Given the description of an element on the screen output the (x, y) to click on. 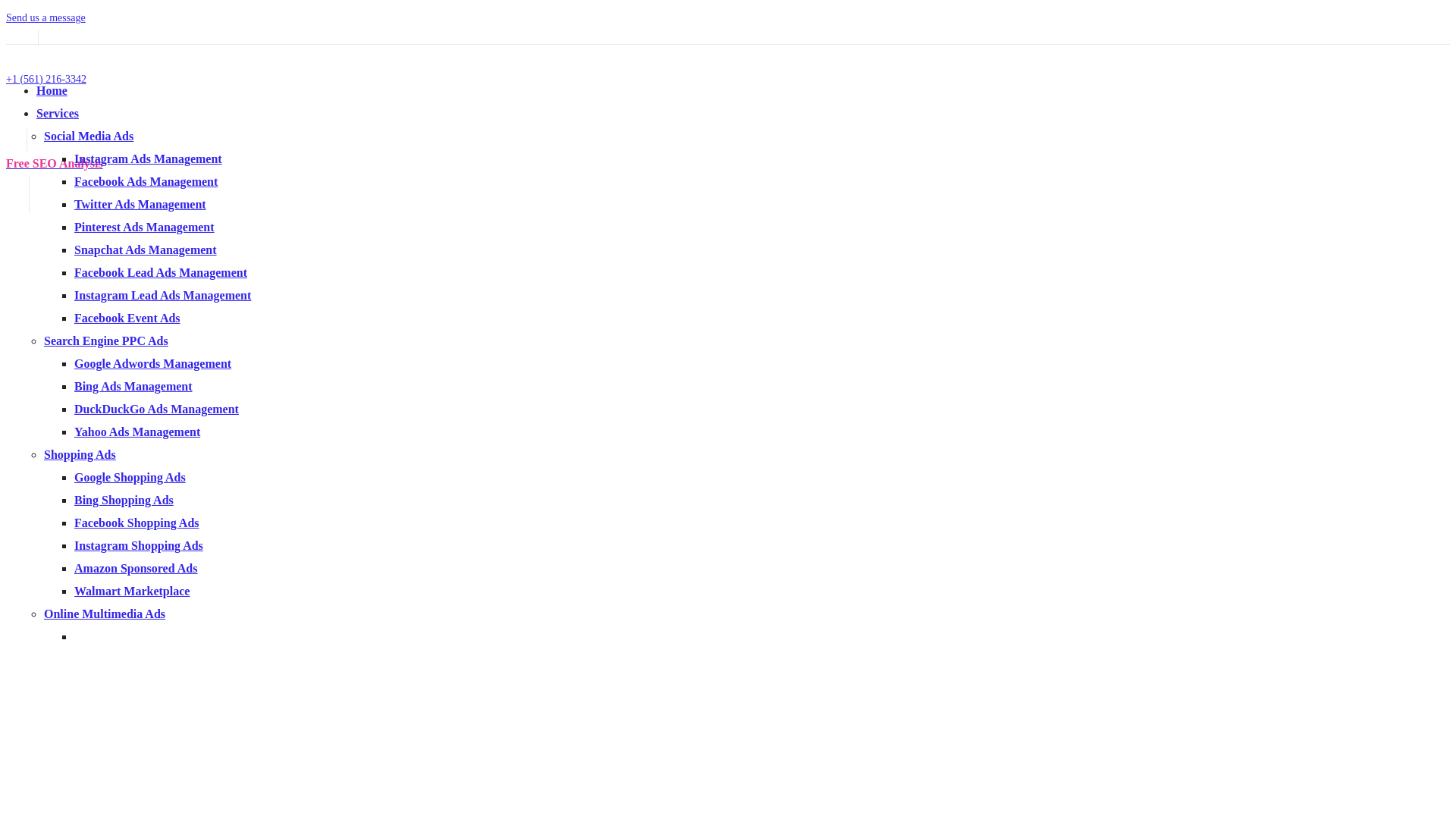
Google Adwords Management Element type: text (152, 363)
Send us a message Element type: text (45, 17)
Bing Ads Management Element type: text (133, 385)
Free SEO Analysis Element type: text (54, 162)
Walmart Marketplace Element type: text (131, 590)
Instagram Lead Ads Management Element type: text (162, 294)
Social Media Ads Element type: text (88, 135)
Services Element type: text (57, 112)
Home Element type: text (51, 90)
Twitter Ads Management Element type: text (140, 203)
Yahoo Ads Management Element type: text (137, 431)
Google Shopping Ads Element type: text (129, 476)
Facebook Lead Ads Management Element type: text (160, 272)
Facebook Shopping Ads Element type: text (136, 522)
Pinterest Ads Management Element type: text (144, 226)
Shopping Ads Element type: text (79, 454)
Instagram Shopping Ads Element type: text (138, 545)
Snapchat Ads Management Element type: text (145, 249)
Facebook Event Ads Element type: text (127, 317)
Bing Shopping Ads Element type: text (123, 499)
+1 (561) 216-3342 Element type: text (46, 78)
DuckDuckGo Ads Management Element type: text (156, 408)
Search Engine PPC Ads Element type: text (105, 340)
Online Multimedia Ads Element type: text (104, 613)
Amazon Sponsored Ads Element type: text (135, 567)
Facebook Ads Management Element type: text (145, 181)
Instagram Ads Management Element type: text (148, 158)
